Given the description of an element on the screen output the (x, y) to click on. 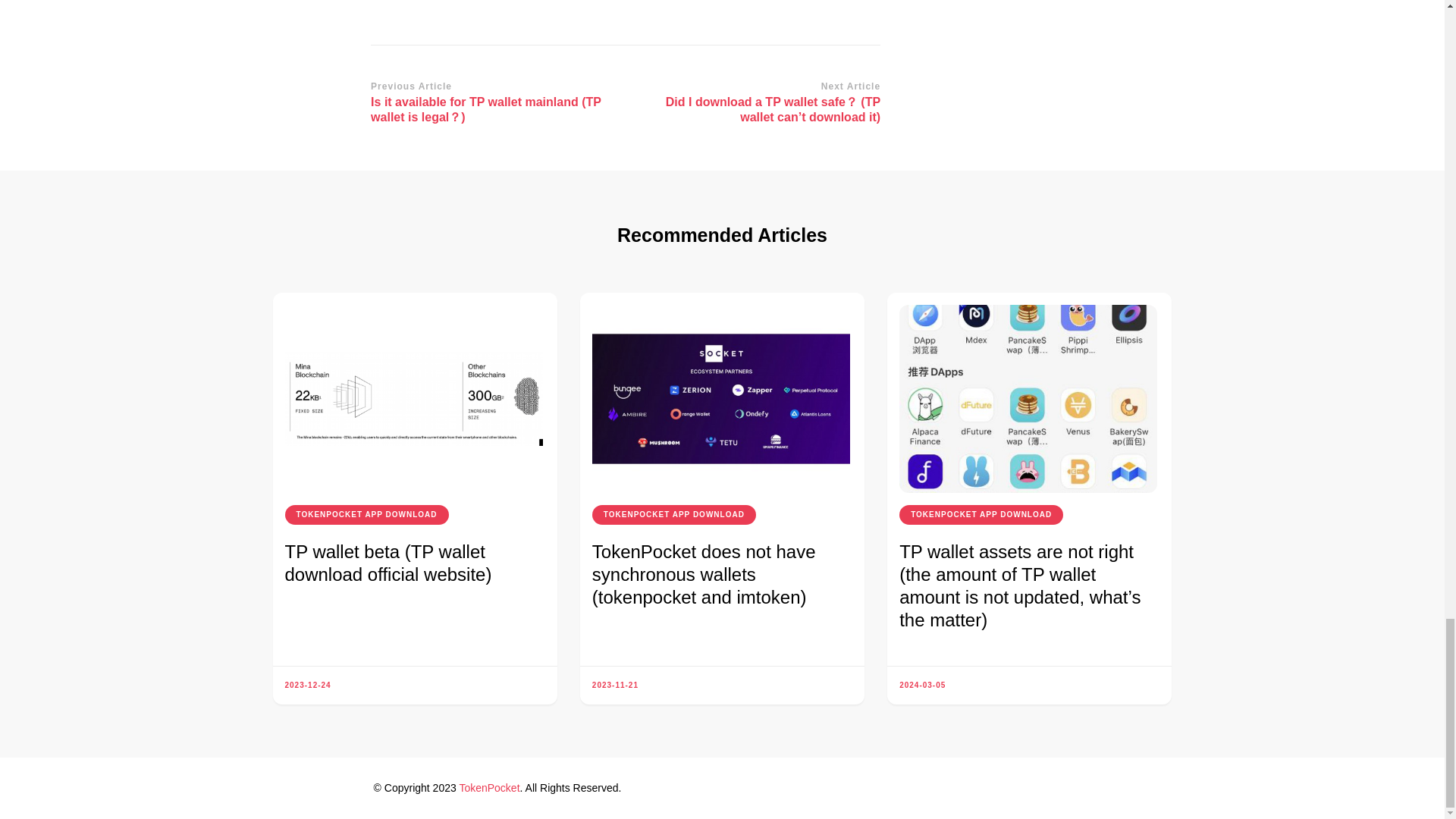
TOKENPOCKET APP DOWNLOAD (366, 514)
